Given the description of an element on the screen output the (x, y) to click on. 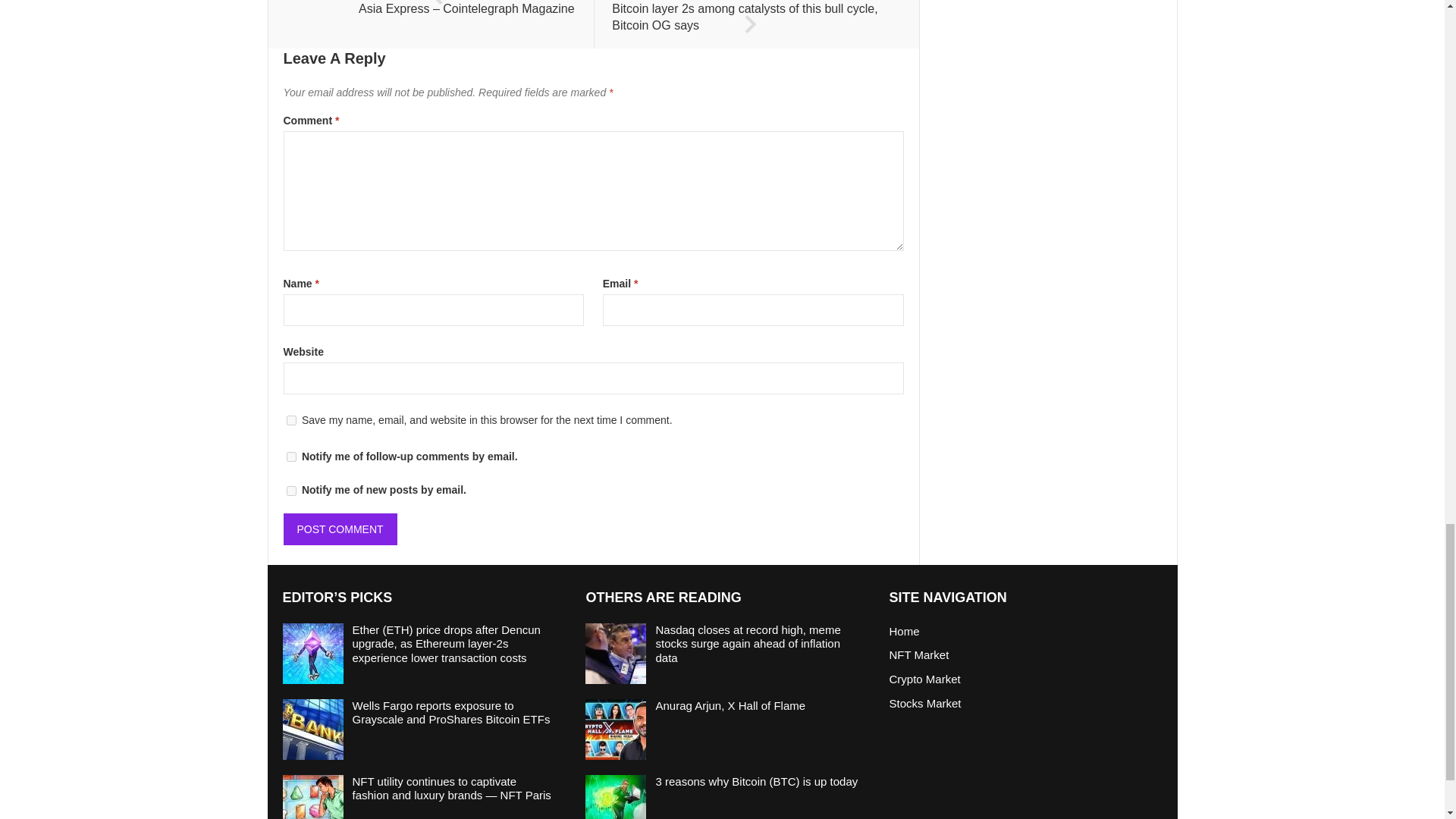
Post Comment (340, 528)
Post Comment (340, 528)
subscribe (291, 491)
yes (291, 420)
subscribe (291, 456)
